Given the description of an element on the screen output the (x, y) to click on. 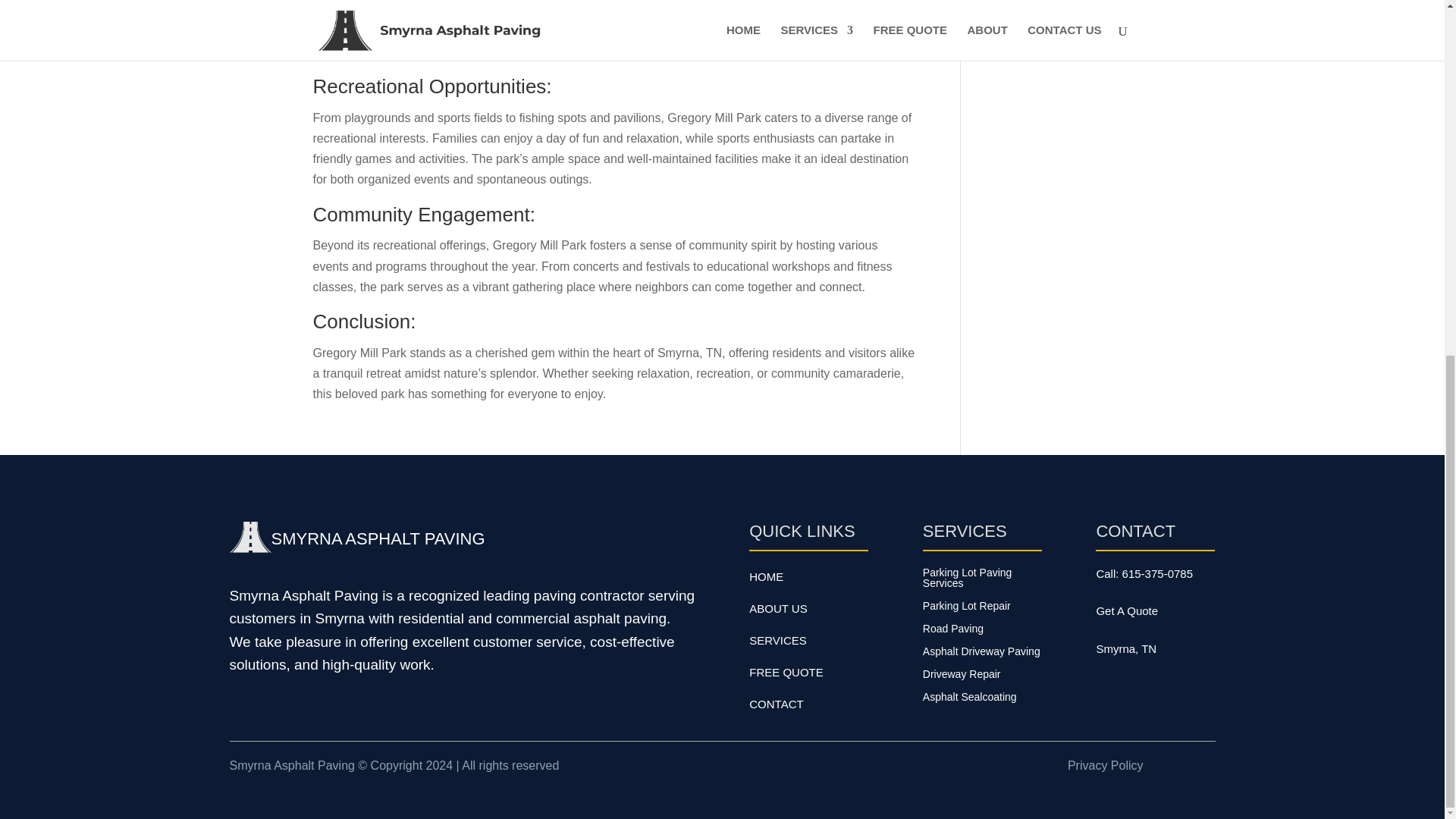
Asphalt Driveway Paving (982, 654)
ABOUT US (777, 608)
CONTACT (776, 703)
SERVICES (777, 640)
FREE QUOTE (786, 671)
Parking Lot Repair (966, 608)
Asphalt Sealcoating (969, 699)
Driveway Repair (962, 677)
Road Paving (953, 631)
HOME (766, 576)
Parking Lot Paving Services (982, 580)
